Given the description of an element on the screen output the (x, y) to click on. 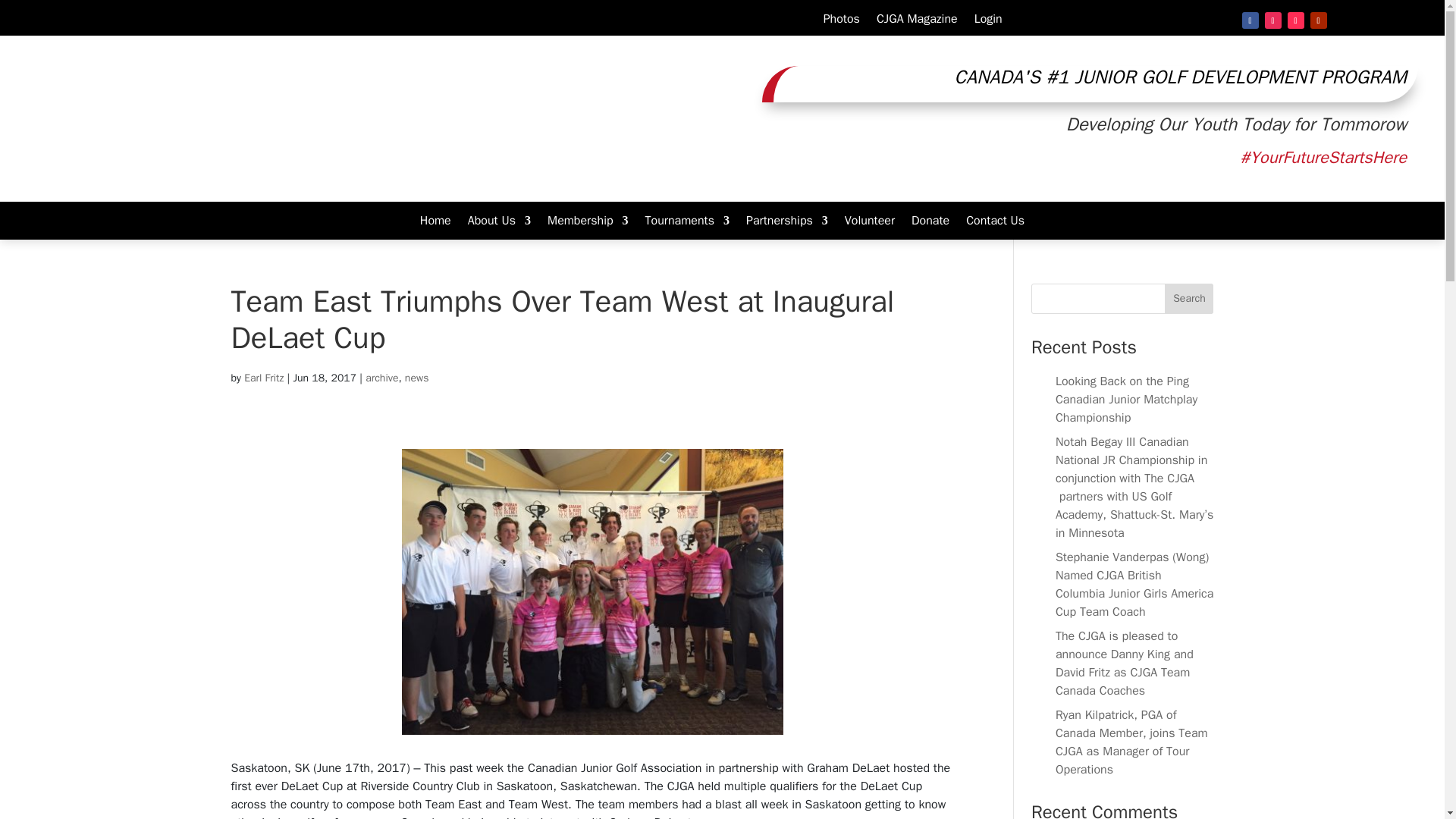
About Us (499, 223)
Follow on TikTok (1295, 20)
Search (1188, 298)
Earl Fritz (263, 377)
Follow on Facebook (1250, 20)
Tournaments (687, 223)
Photos (842, 21)
Posts by Earl Fritz (263, 377)
